Given the description of an element on the screen output the (x, y) to click on. 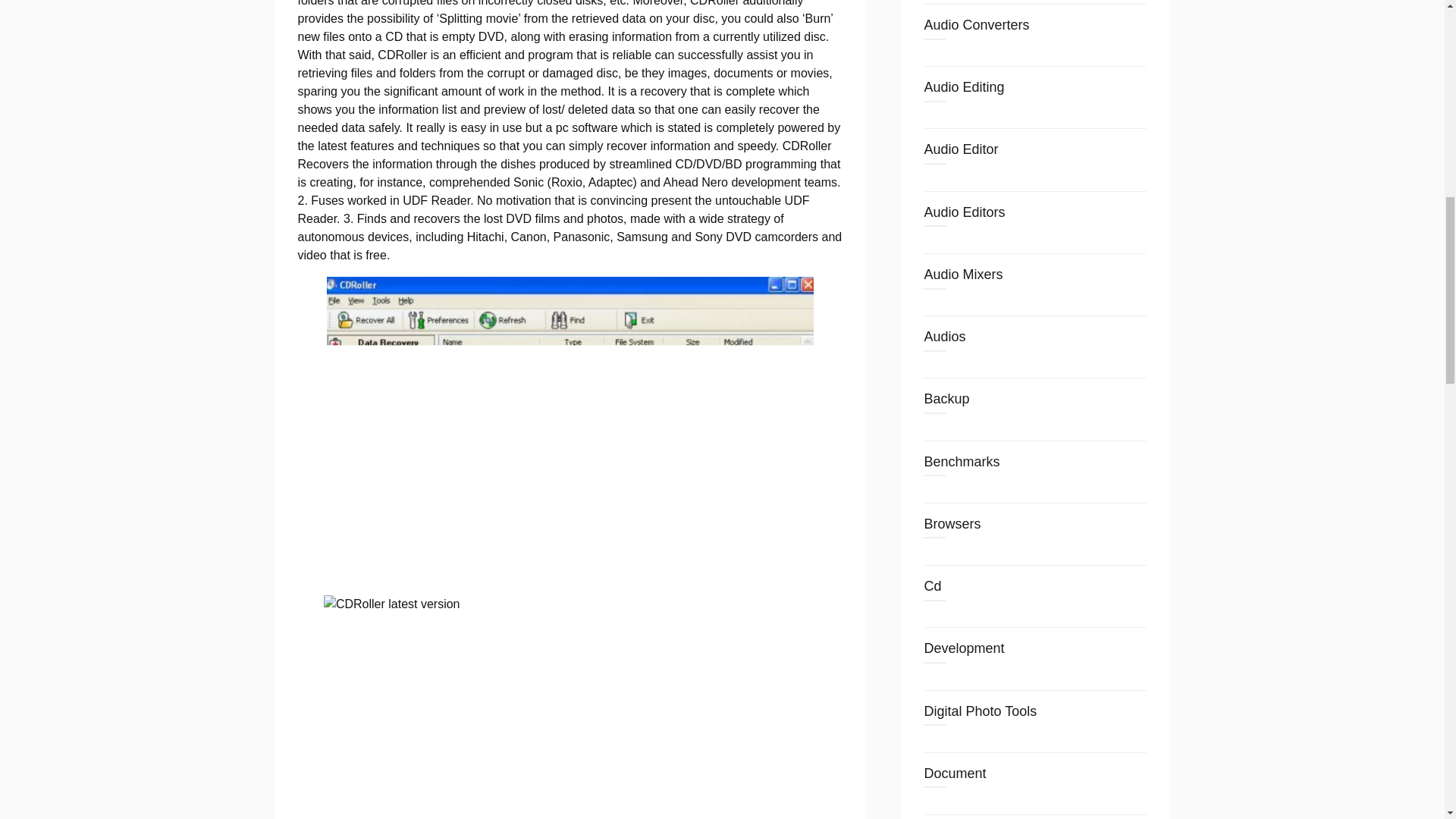
Browsers (951, 523)
Audio Editing (963, 87)
Audio Editors (963, 212)
Backup (946, 398)
Benchmarks (960, 461)
Audio Editor (960, 149)
Audio Mixers (963, 273)
Audios (944, 336)
Audio Converters (976, 24)
